Given the description of an element on the screen output the (x, y) to click on. 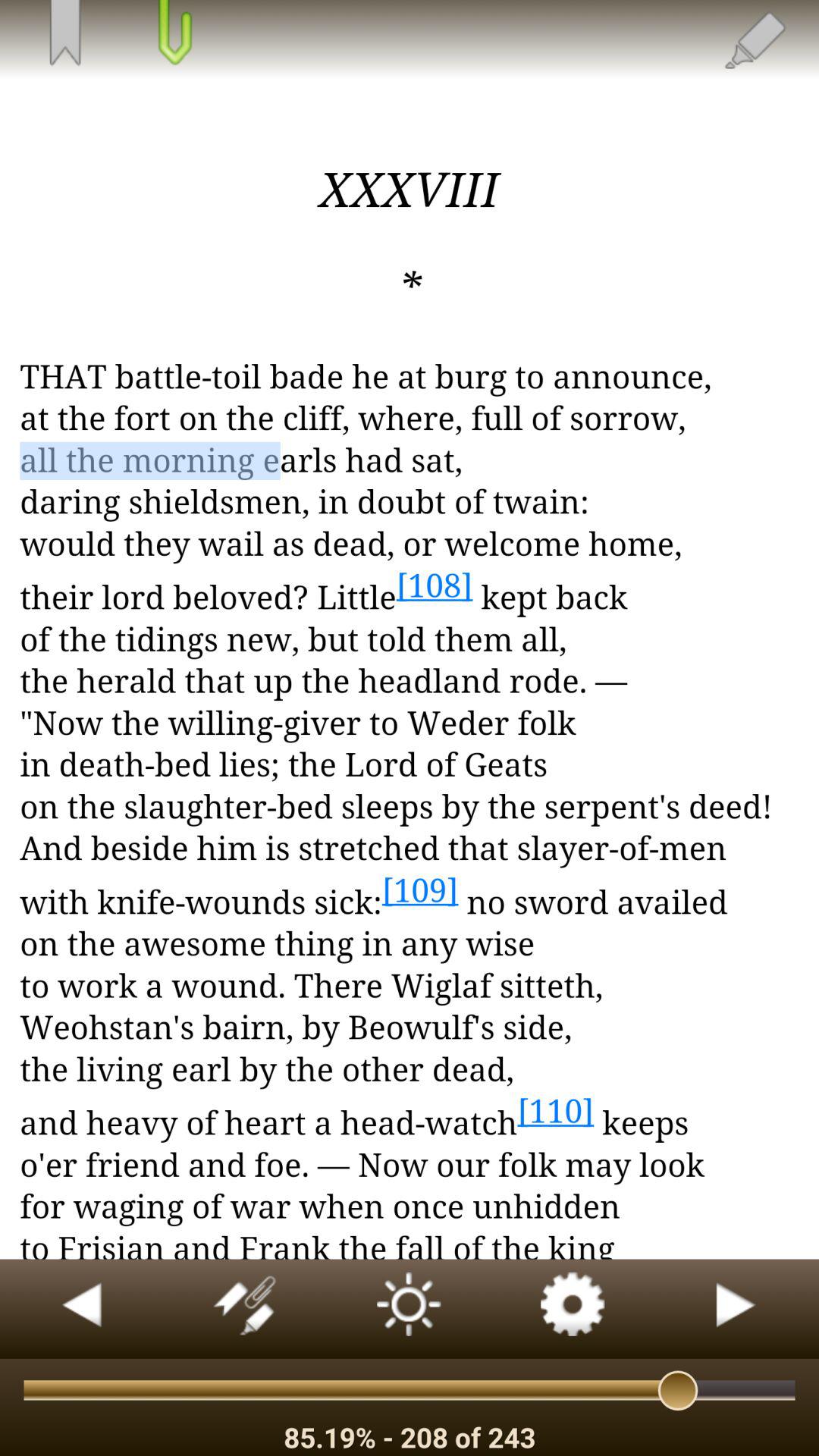
adjust brightness (409, 1308)
